Given the description of an element on the screen output the (x, y) to click on. 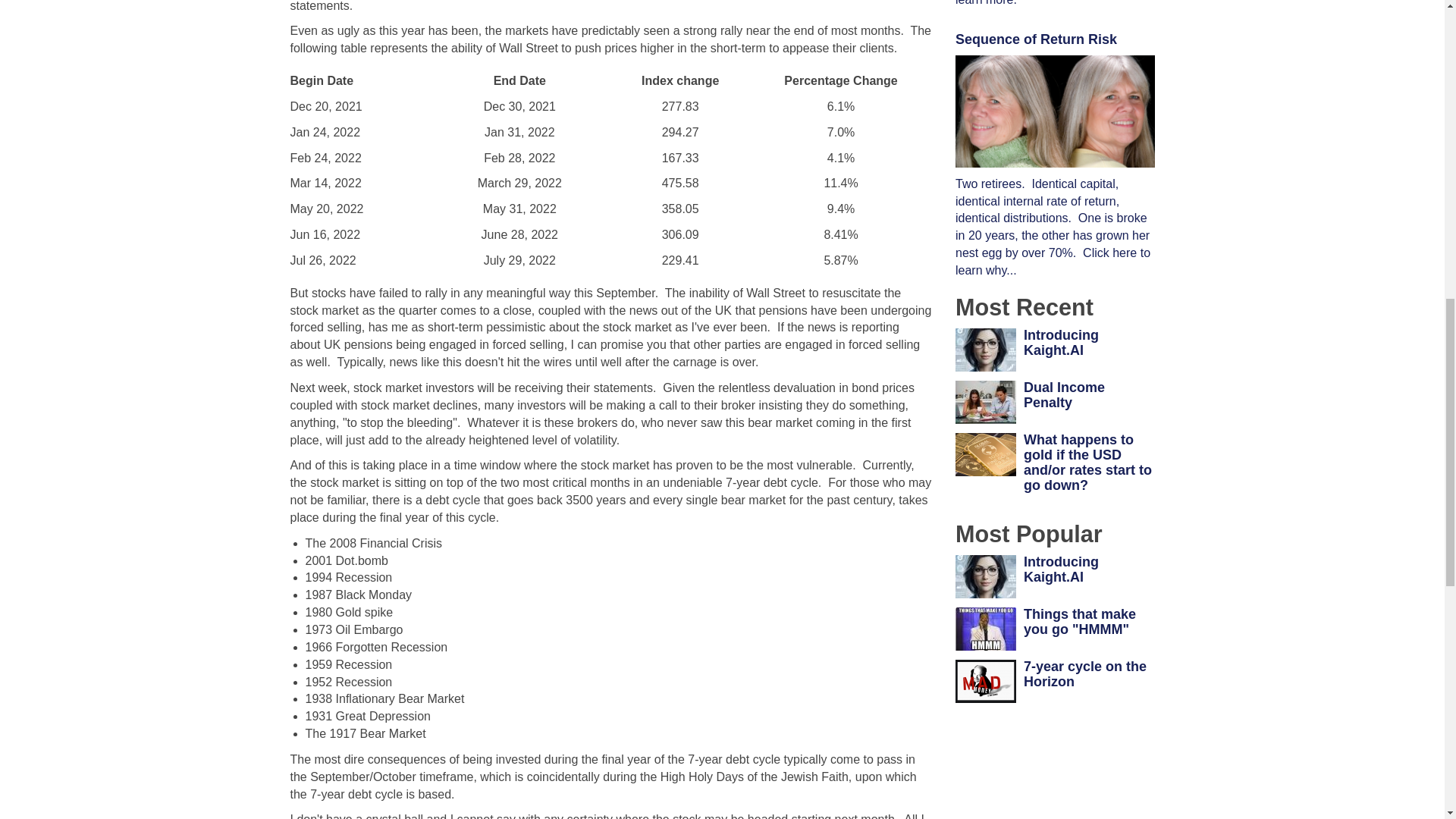
Twin Investors (1054, 111)
Sequence of Return Risk (1035, 38)
Introducing Kaight.AI (1061, 342)
